Given the description of an element on the screen output the (x, y) to click on. 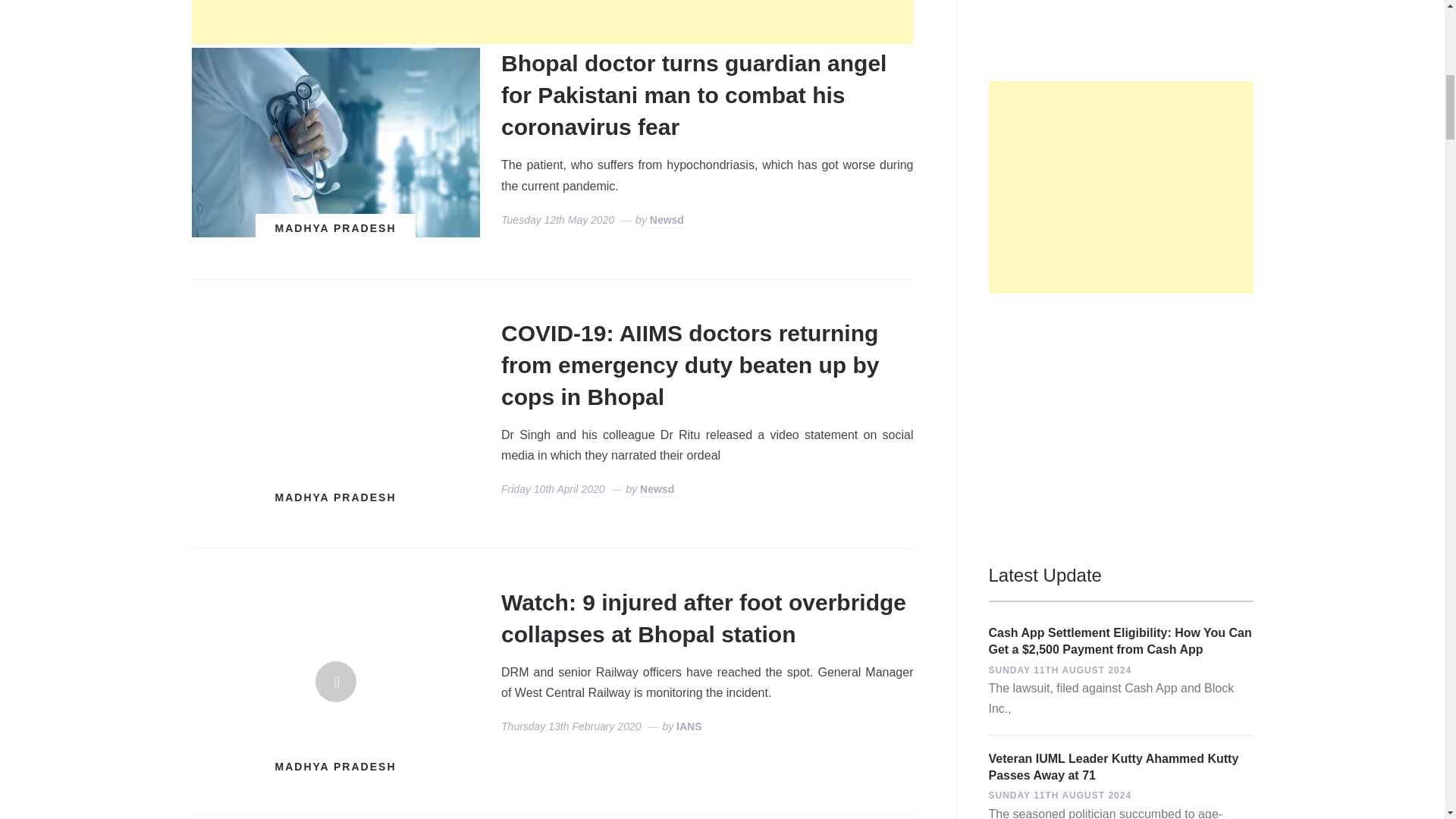
Posts by Newsd (666, 220)
Posts by Newsd (657, 490)
Posts by IANS (689, 727)
Advertisement (551, 22)
